Given the description of an element on the screen output the (x, y) to click on. 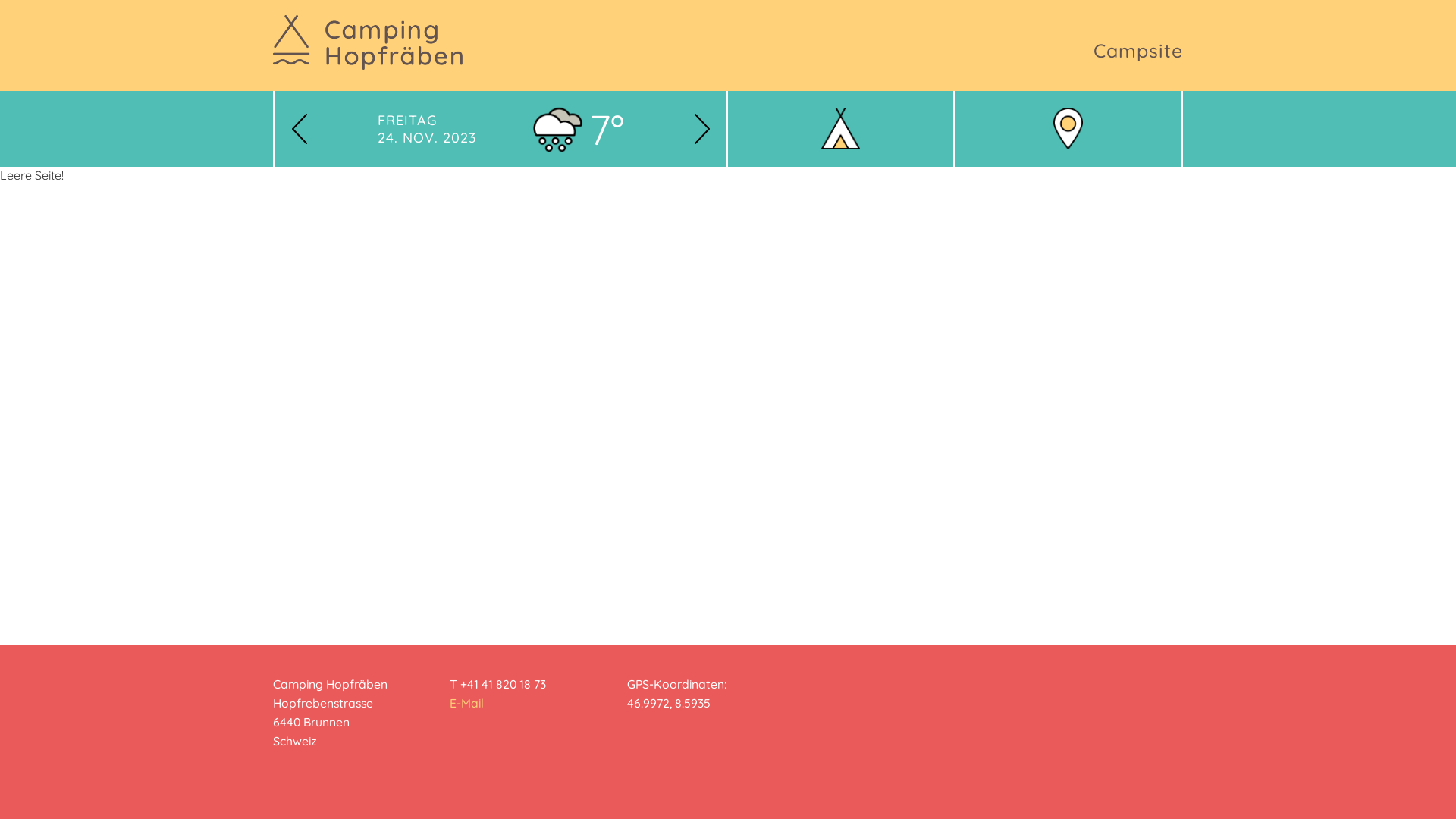
Next Element type: text (701, 128)
Campsite Element type: text (1138, 50)
E-Mail Element type: text (466, 702)
+41 41 820 18 73 Element type: text (503, 683)
Previous Element type: text (298, 128)
